Given the description of an element on the screen output the (x, y) to click on. 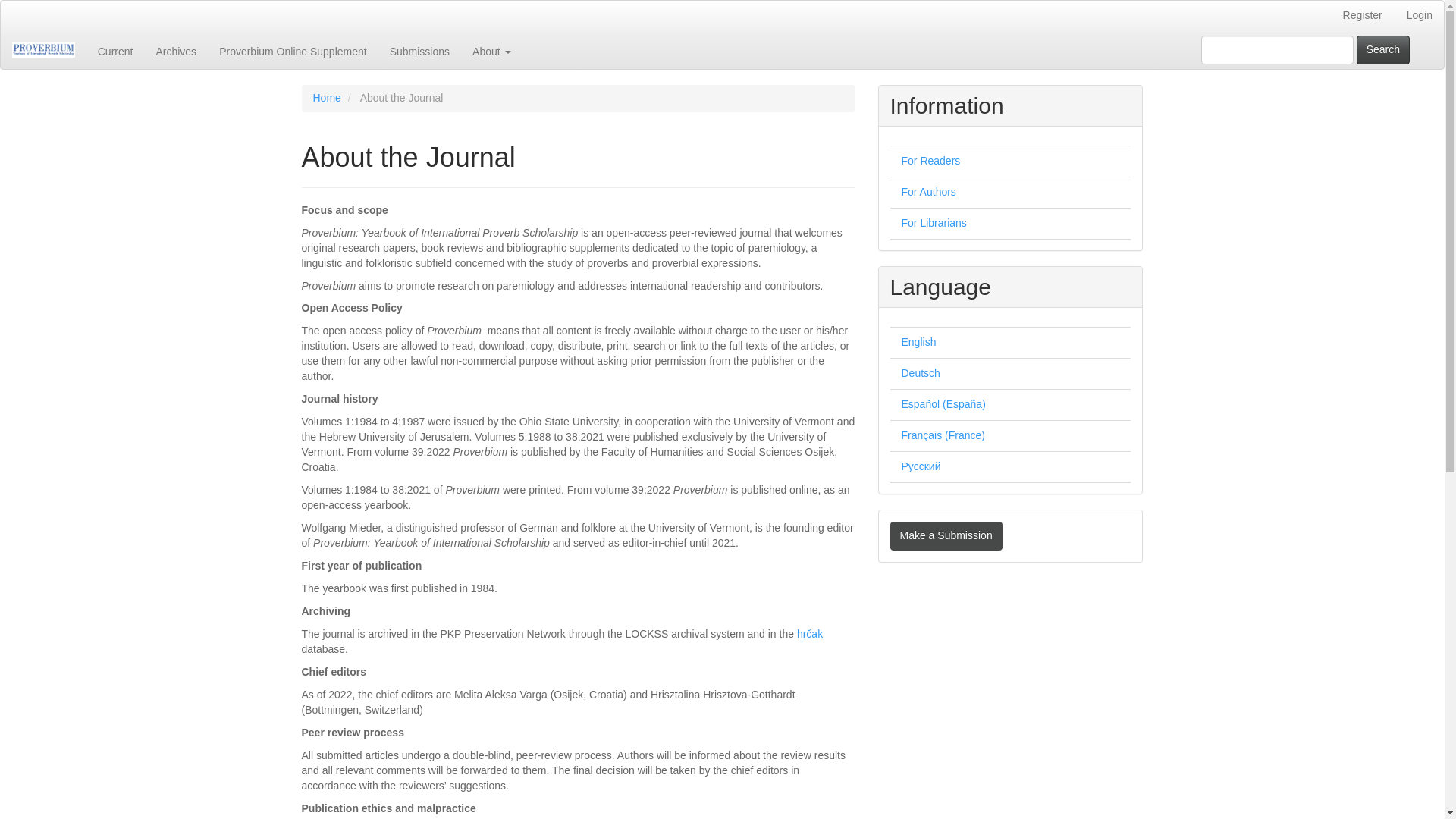
For Librarians (933, 223)
Login (1419, 15)
For Authors (928, 191)
Proverbium Online Supplement (293, 49)
Submissions (419, 49)
About (491, 49)
Register (1362, 15)
Deutsch (920, 372)
Search (1382, 50)
For Readers (930, 160)
Make a Submission (946, 535)
Archives (176, 49)
Current (114, 49)
Home (326, 97)
English (918, 341)
